Given the description of an element on the screen output the (x, y) to click on. 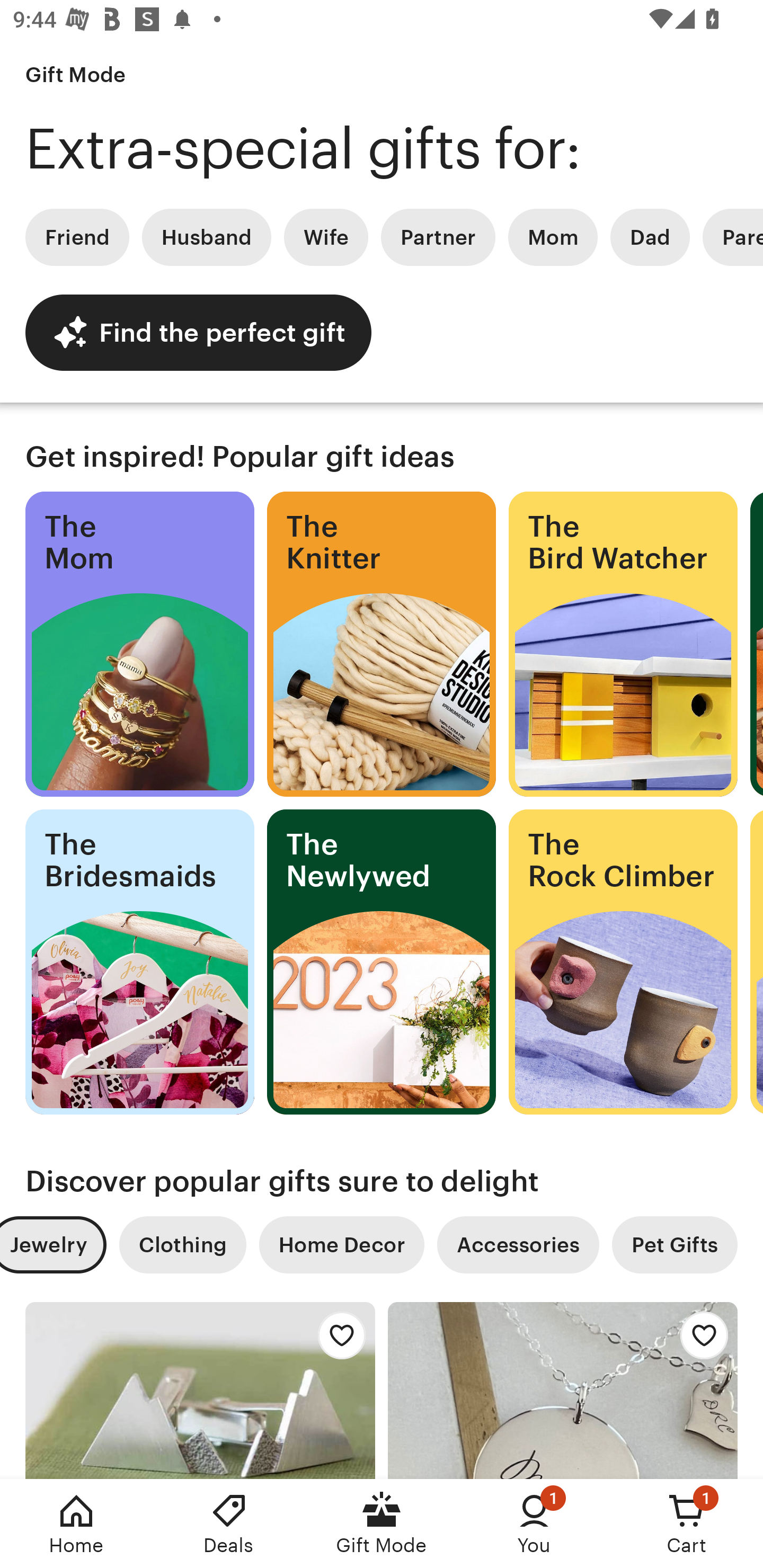
Friend (76, 237)
Husband (206, 237)
Wife (325, 237)
Partner (437, 237)
Mom (552, 237)
Dad (649, 237)
Find the perfect gift (198, 332)
The Mom (139, 644)
The Knitter (381, 644)
The Bird Watcher (622, 644)
The Bridesmaids (139, 961)
The Newlywed (381, 961)
The Rock Climber (622, 961)
Jewelry (53, 1244)
Clothing (182, 1244)
Home Decor (341, 1244)
Accessories (517, 1244)
Pet Gifts (674, 1244)
Home (76, 1523)
Deals (228, 1523)
You, 1 new notification You (533, 1523)
Cart, 1 new notification Cart (686, 1523)
